Given the description of an element on the screen output the (x, y) to click on. 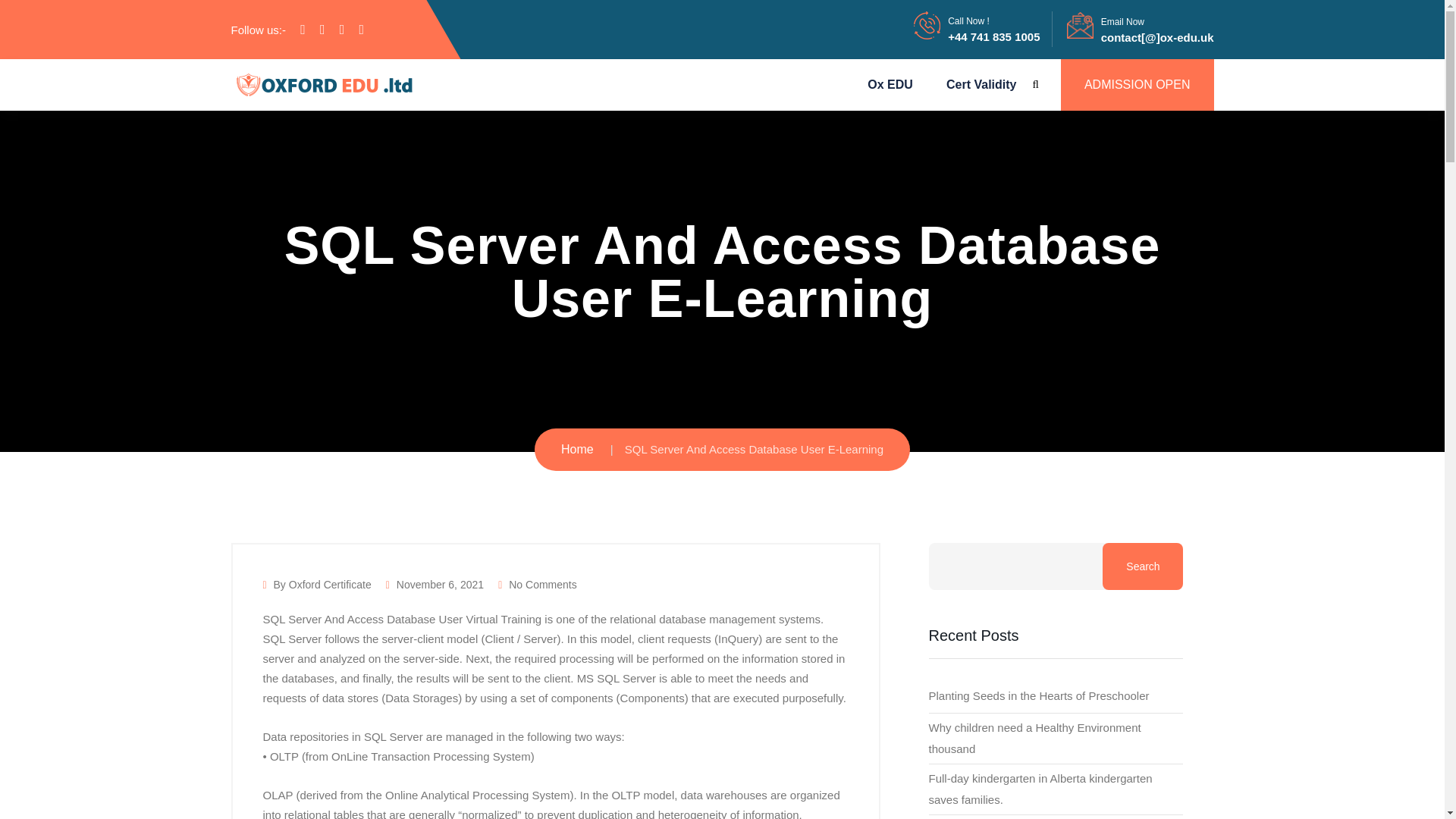
Ox EDU (889, 84)
ADMISSION OPEN (1137, 84)
Cert Validity (981, 84)
Home (577, 449)
